Given the description of an element on the screen output the (x, y) to click on. 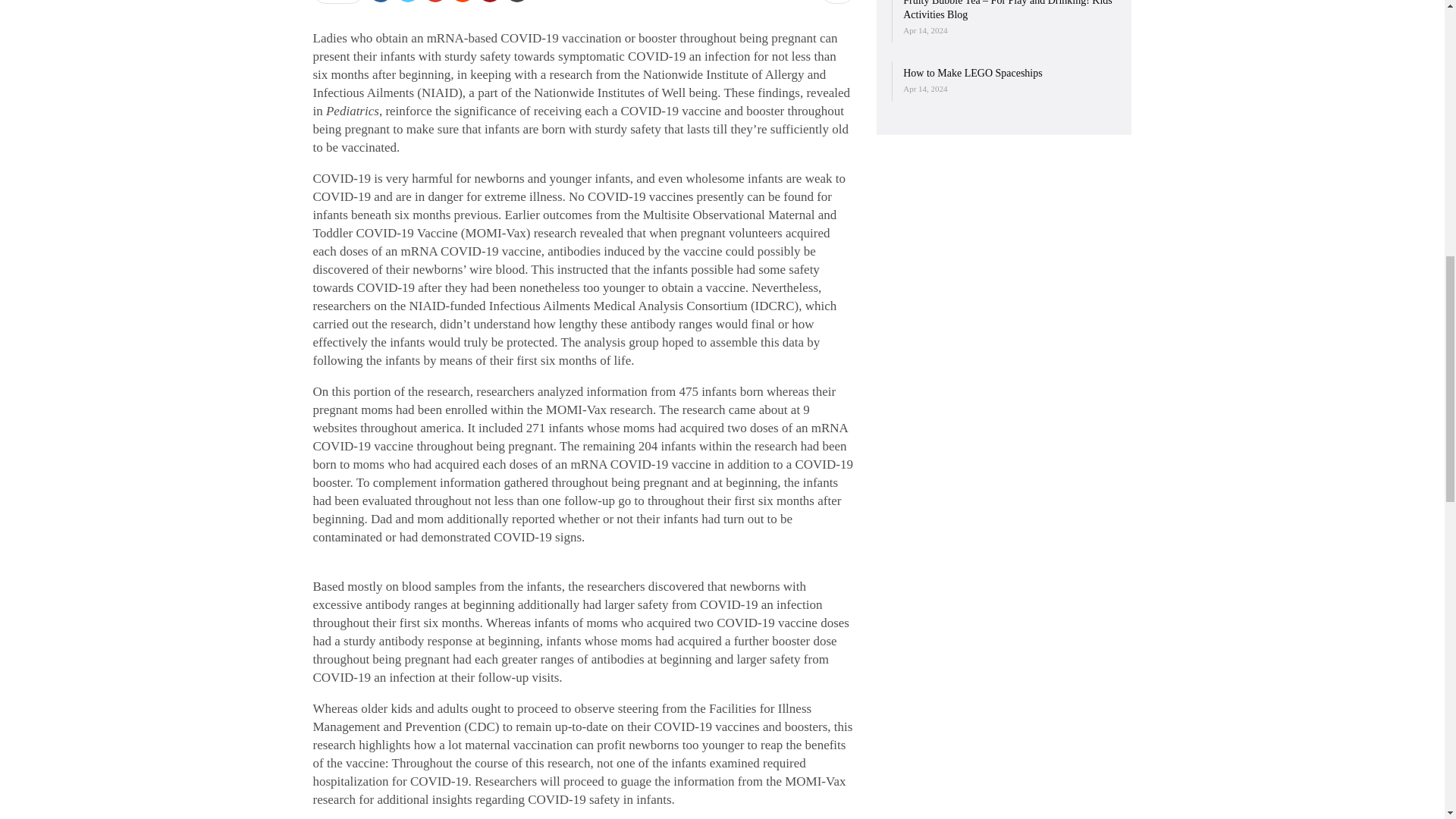
0 (837, 2)
